Given the description of an element on the screen output the (x, y) to click on. 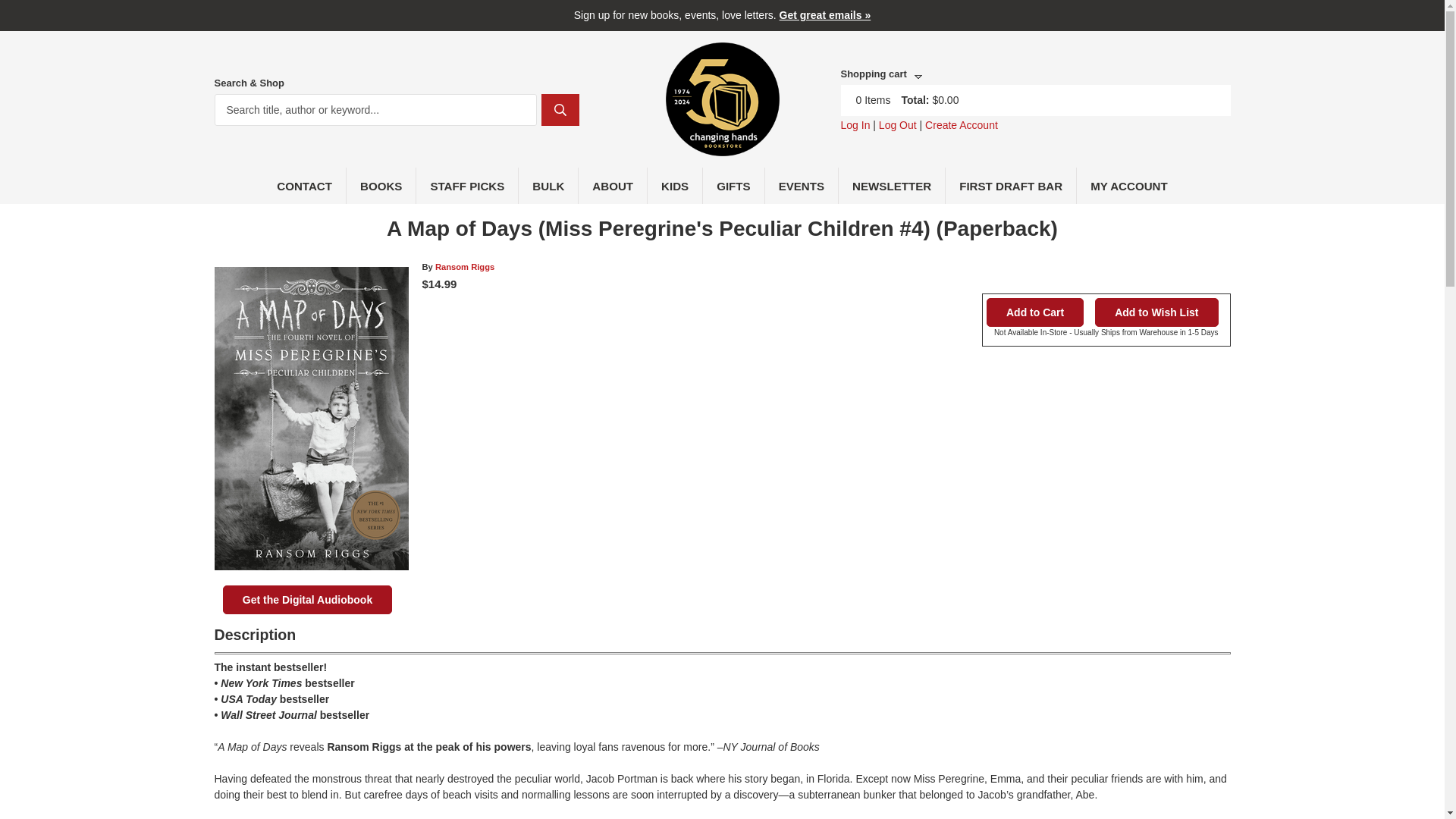
Log In (854, 124)
Create Account (960, 124)
Search (560, 110)
ABOUT (612, 185)
Get the Digital Audiobook (306, 599)
Home page (721, 147)
Add to Cart (1035, 312)
Log Out (898, 124)
BOOKS (381, 185)
